Given the description of an element on the screen output the (x, y) to click on. 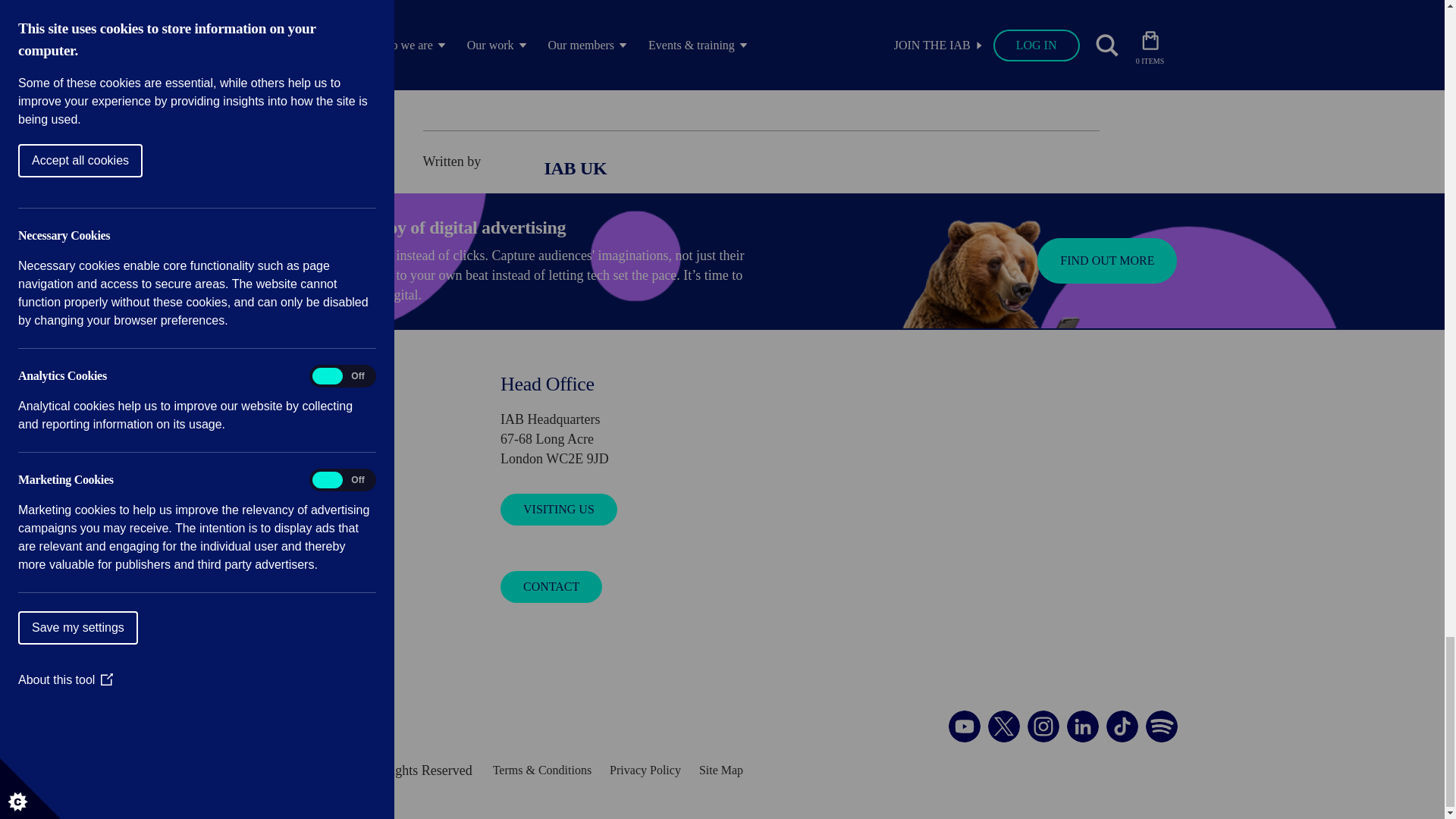
Home (314, 718)
contact (297, 383)
